Given the description of an element on the screen output the (x, y) to click on. 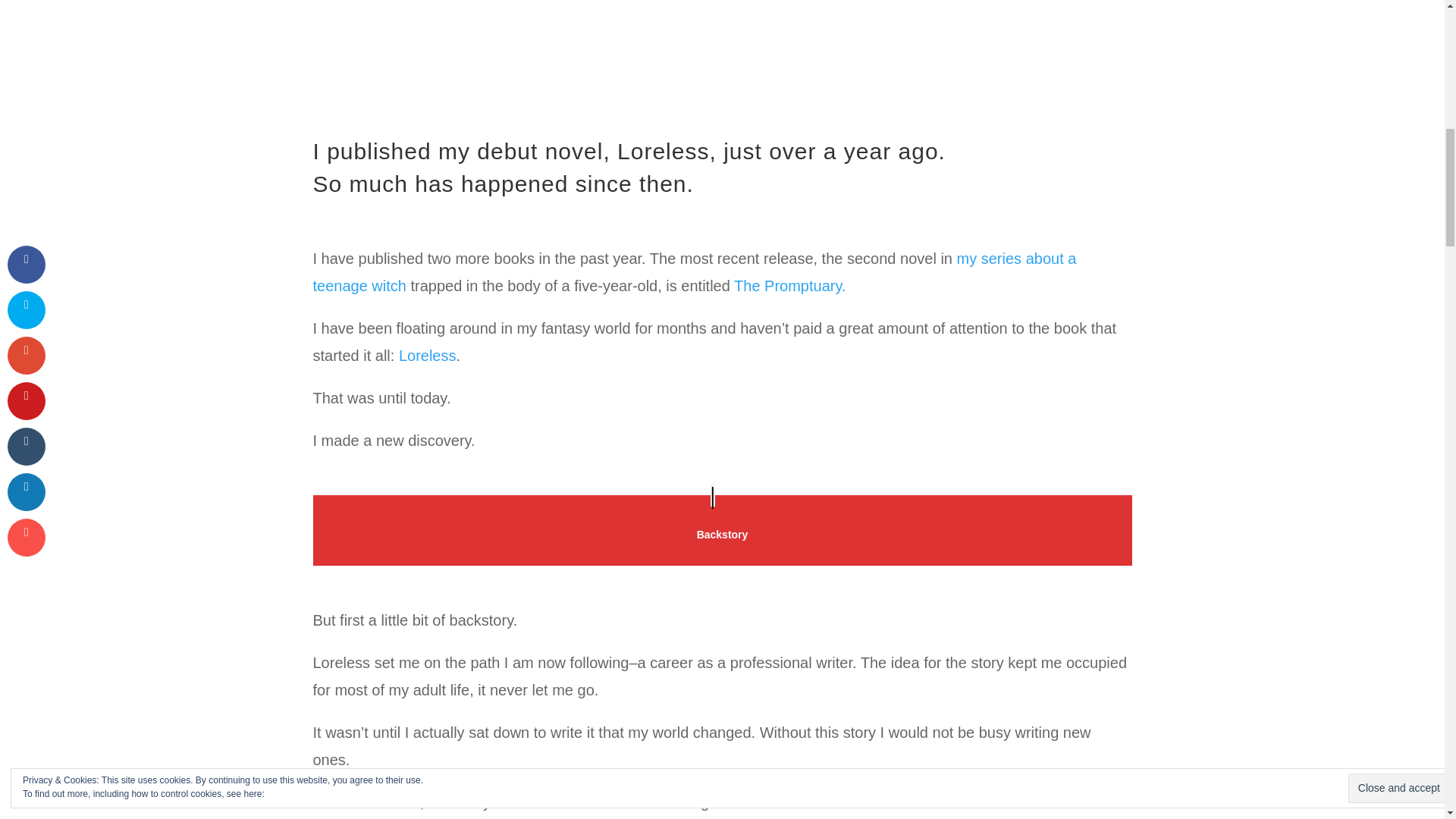
Loreless (639, 801)
The Promptuary. (789, 285)
Loreless (427, 355)
my series about a teenage witch (694, 272)
